Given the description of an element on the screen output the (x, y) to click on. 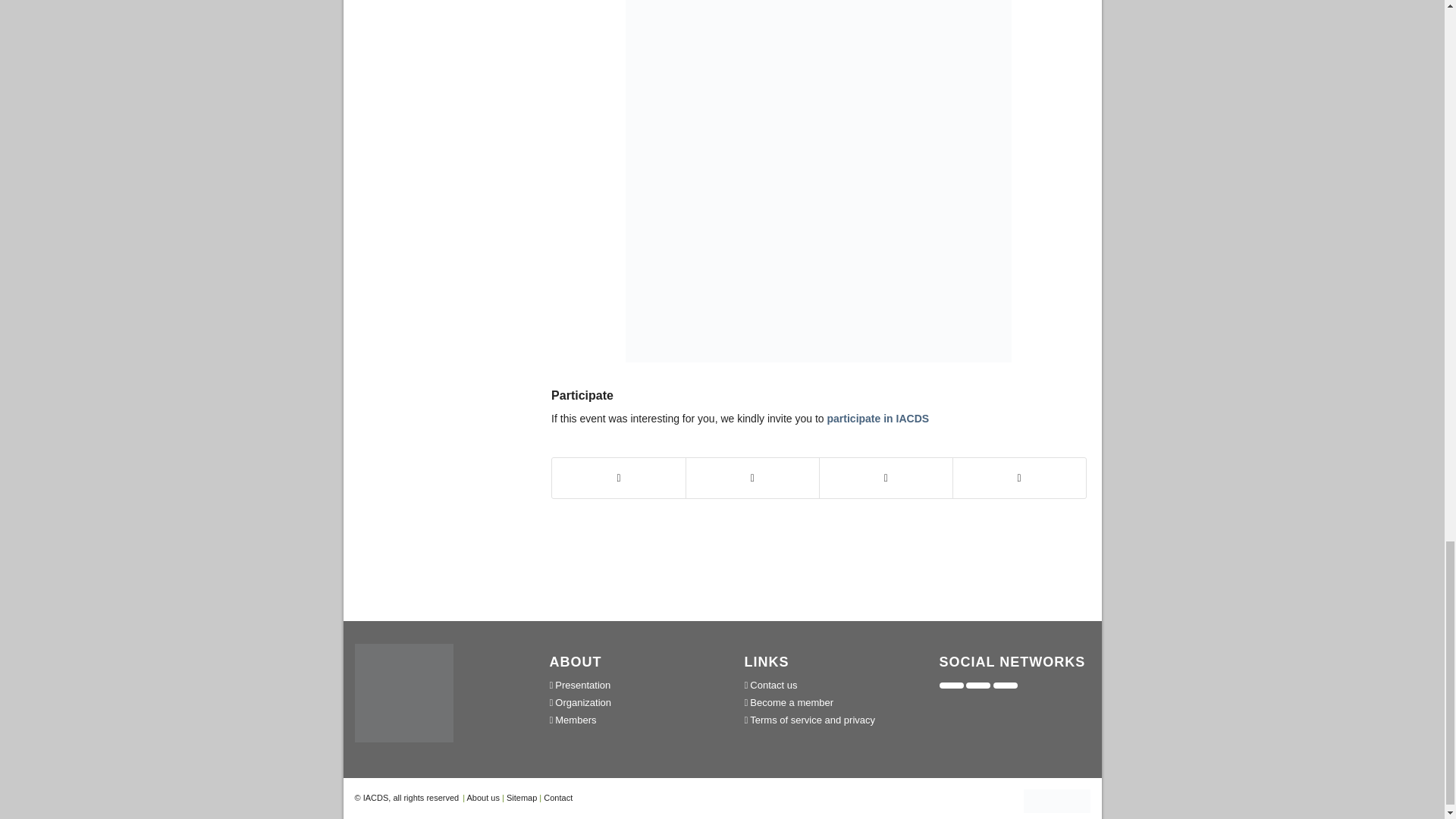
Organization (625, 702)
Presentation (625, 684)
